Given the description of an element on the screen output the (x, y) to click on. 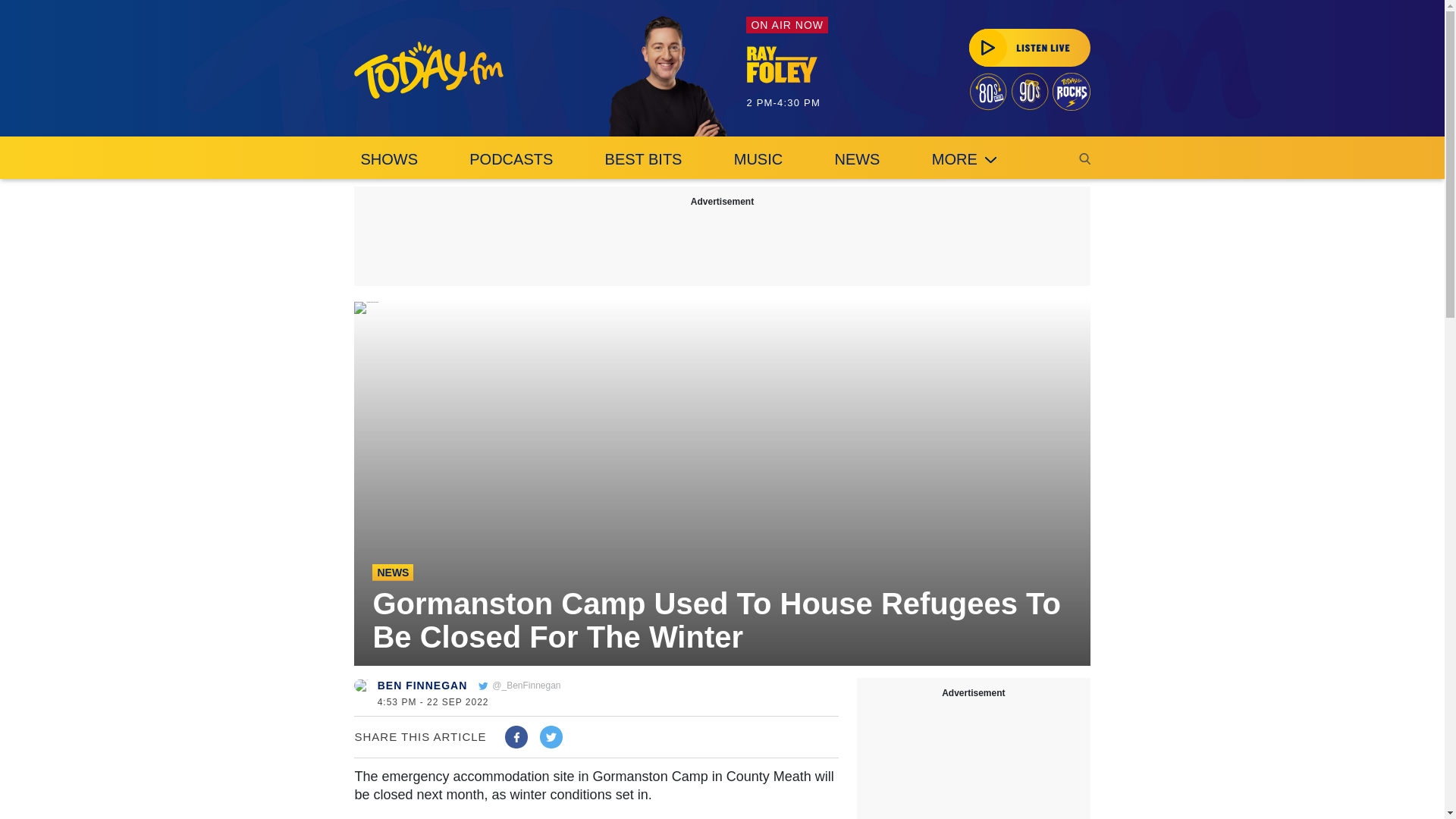
PODCASTS (511, 157)
SHOWS (388, 157)
Podcasts (511, 157)
NEWS (856, 157)
Ray Foley (667, 75)
Shows (388, 157)
BEN FINNEGAN (422, 685)
Best Bits (643, 157)
Music (758, 157)
MUSIC (758, 157)
